Given the description of an element on the screen output the (x, y) to click on. 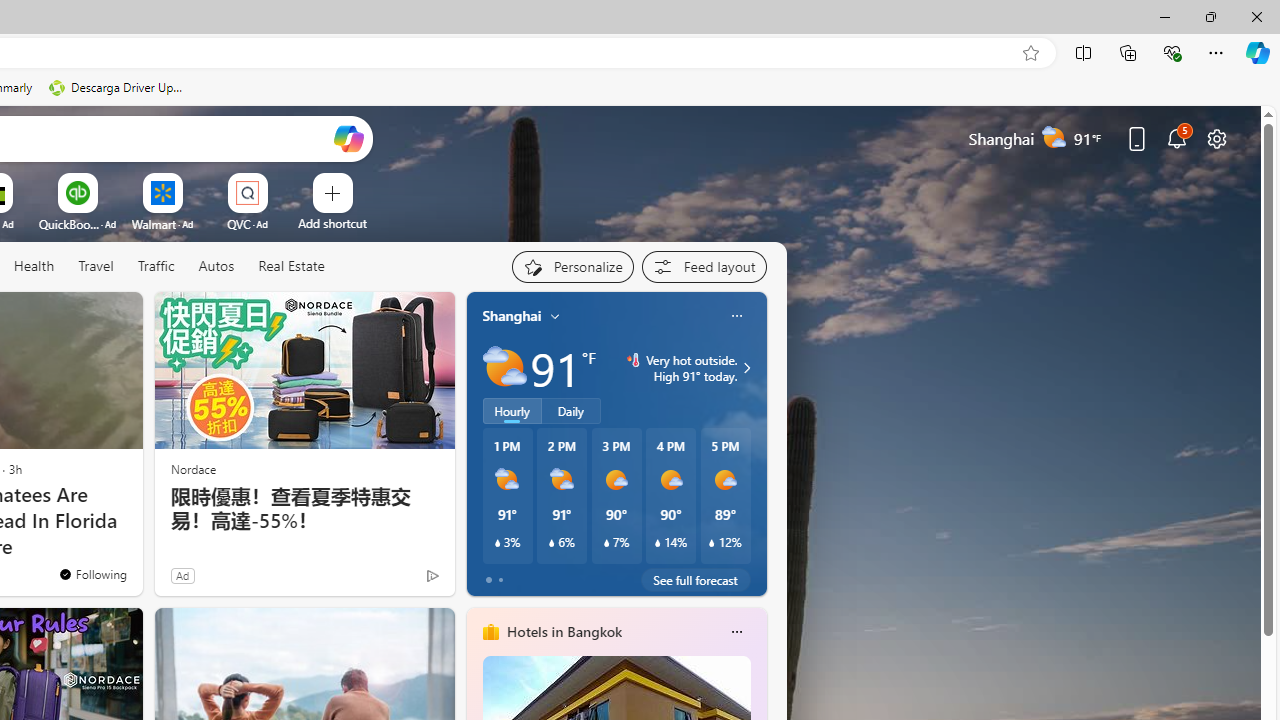
My location (555, 315)
Real Estate (291, 265)
Personalize your feed" (571, 266)
See full forecast (695, 579)
Partly sunny (504, 368)
You're following The Weather Channel (92, 573)
